Given the description of an element on the screen output the (x, y) to click on. 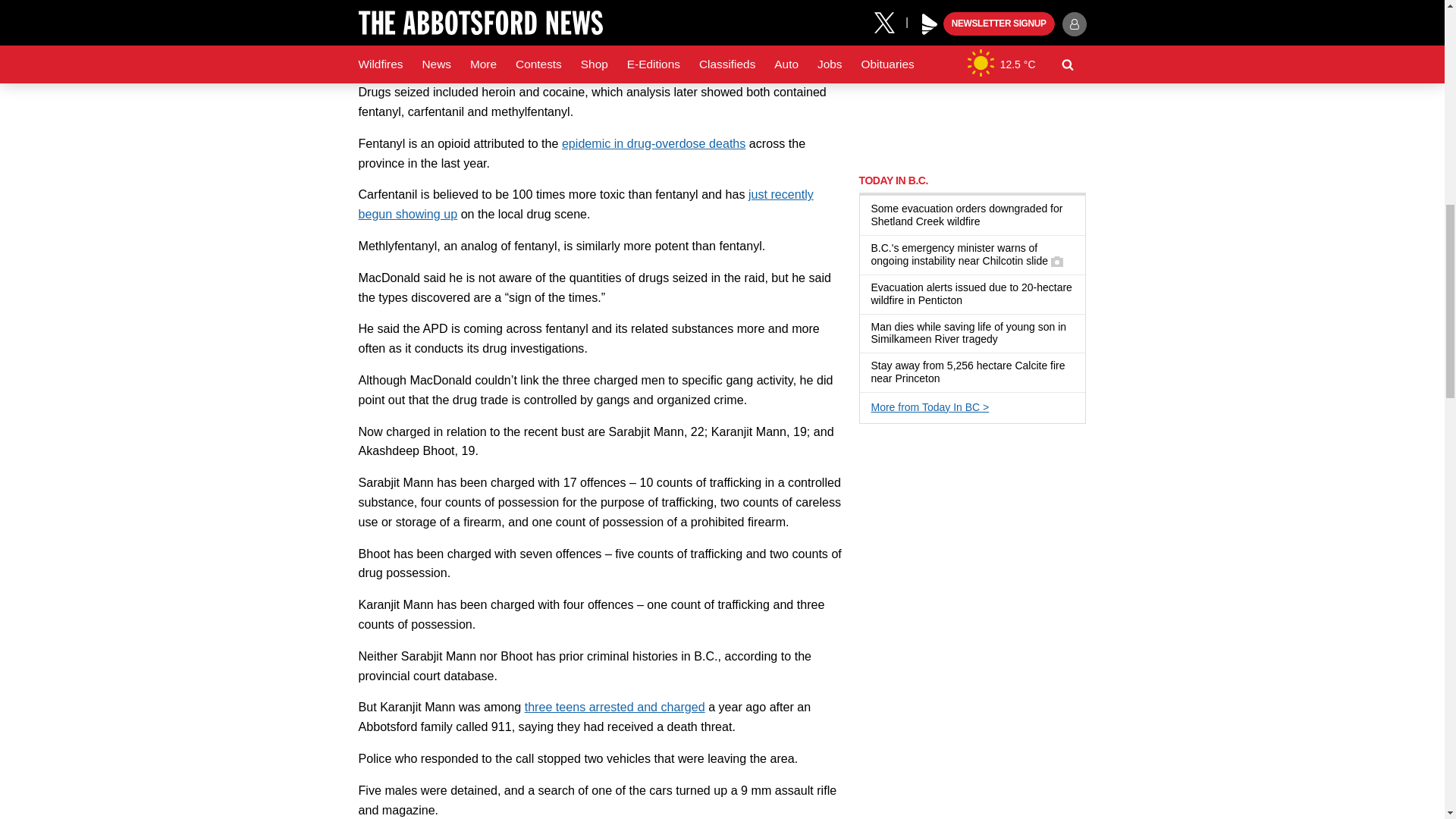
Has a gallery (1056, 261)
